Given the description of an element on the screen output the (x, y) to click on. 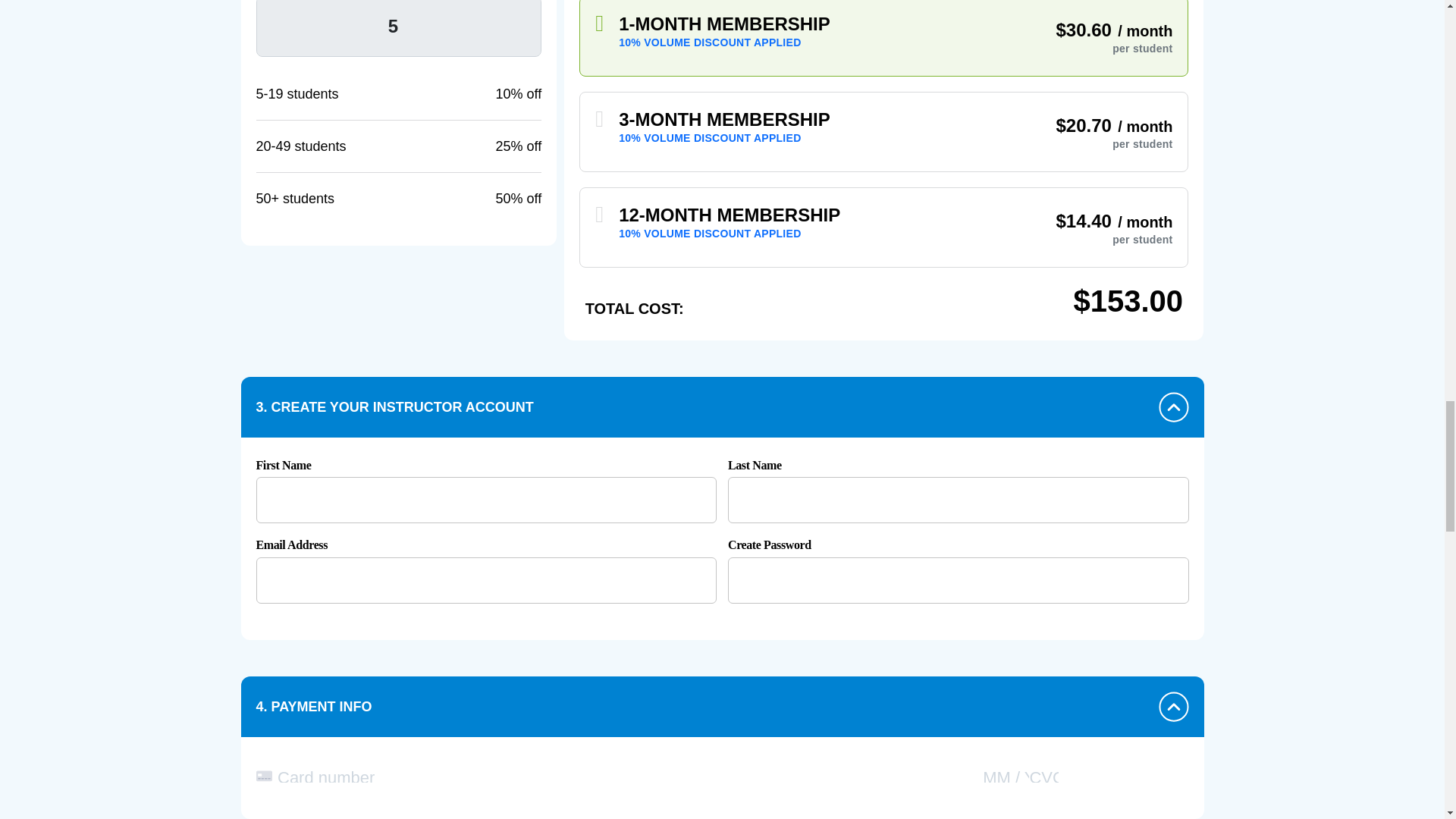
5 (398, 28)
Secure card payment input frame (722, 777)
